Given the description of an element on the screen output the (x, y) to click on. 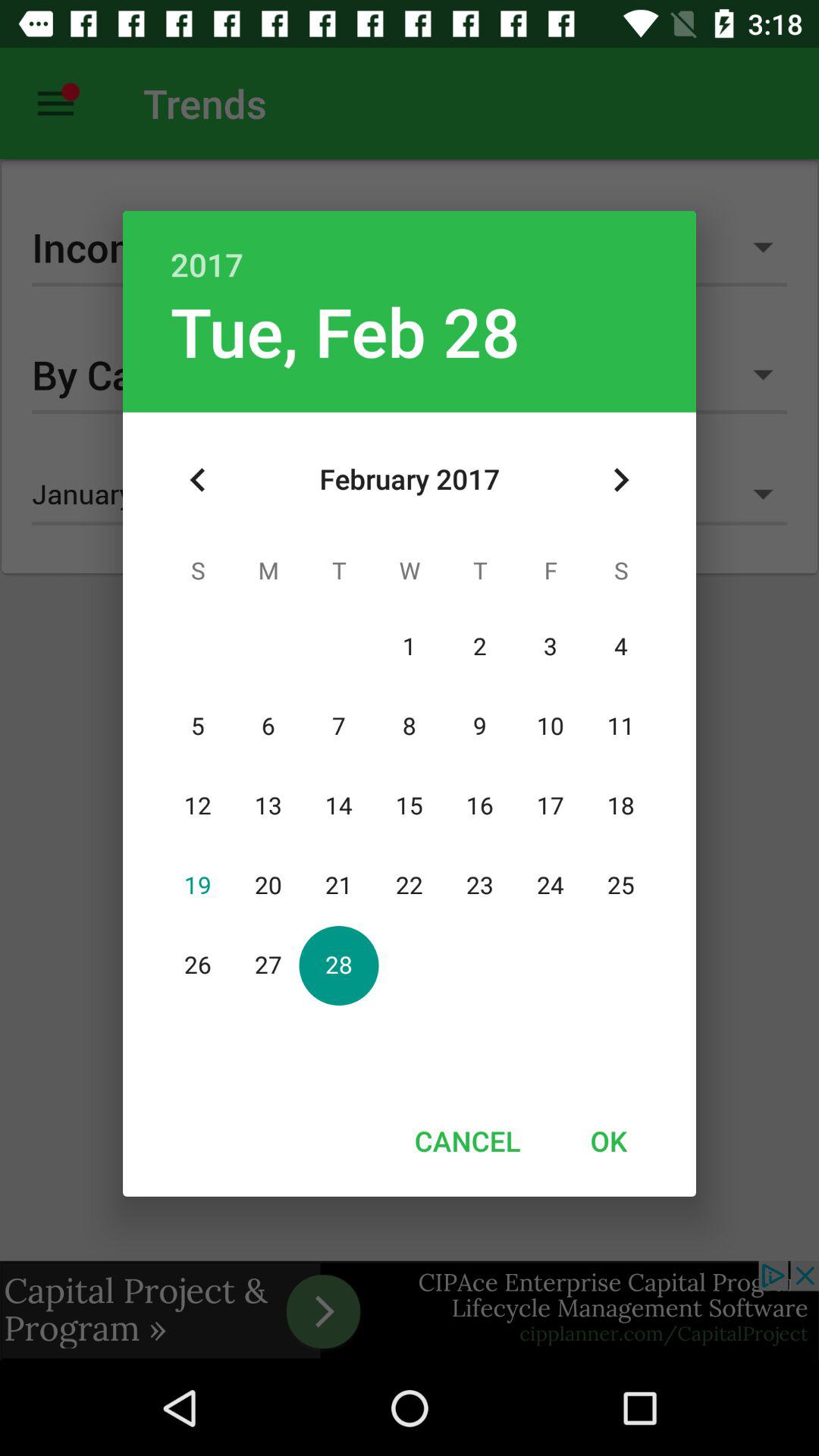
click the item next to cancel item (608, 1140)
